Given the description of an element on the screen output the (x, y) to click on. 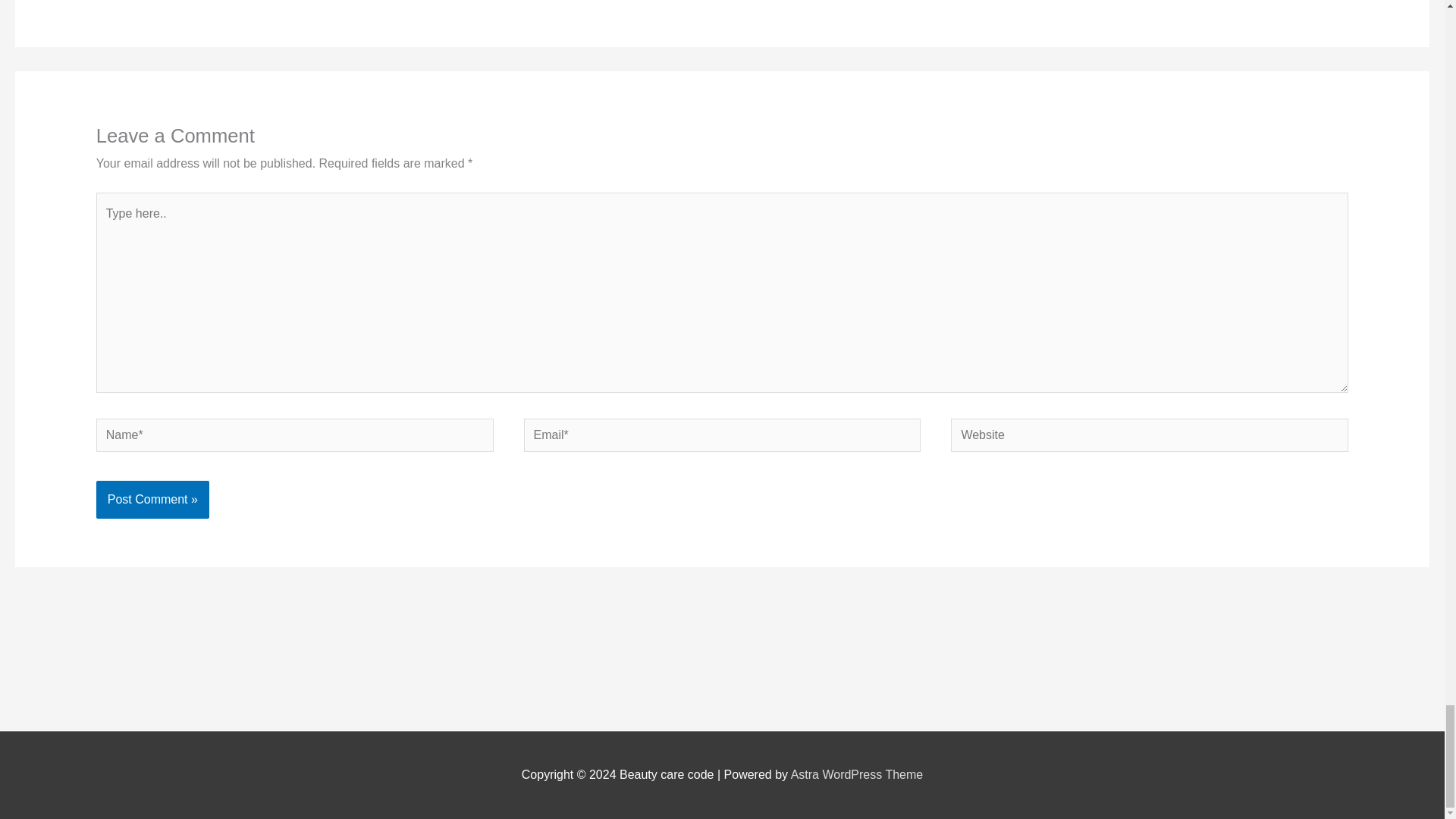
Astra WordPress Theme (856, 774)
